Given the description of an element on the screen output the (x, y) to click on. 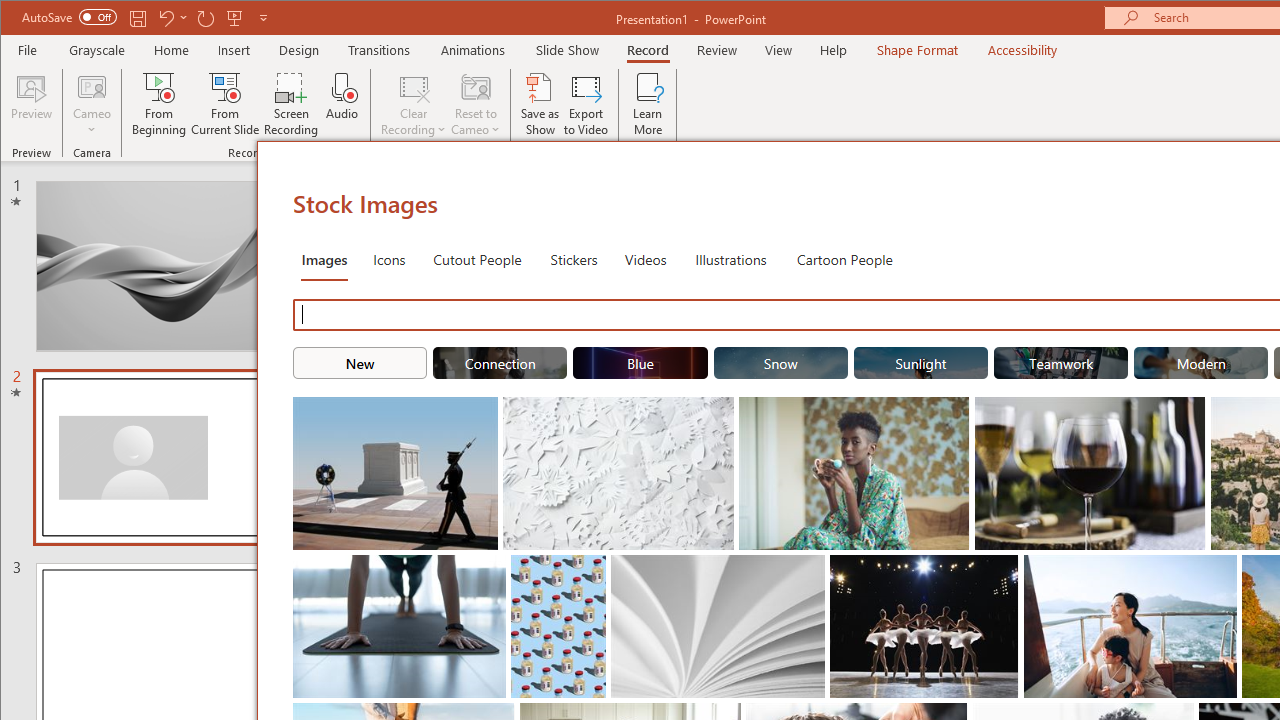
"Modern" Stock Images. (1201, 362)
Clear Recording (413, 104)
From Beginning... (159, 104)
Thumbnail (1221, 569)
Audio (342, 104)
Stickers (574, 258)
